Given the description of an element on the screen output the (x, y) to click on. 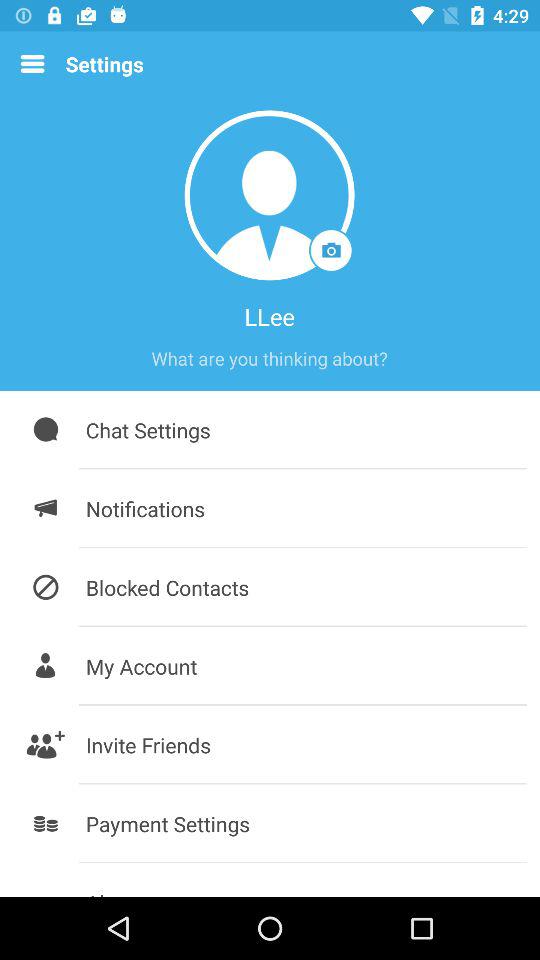
press item above the chat settings icon (269, 358)
